Given the description of an element on the screen output the (x, y) to click on. 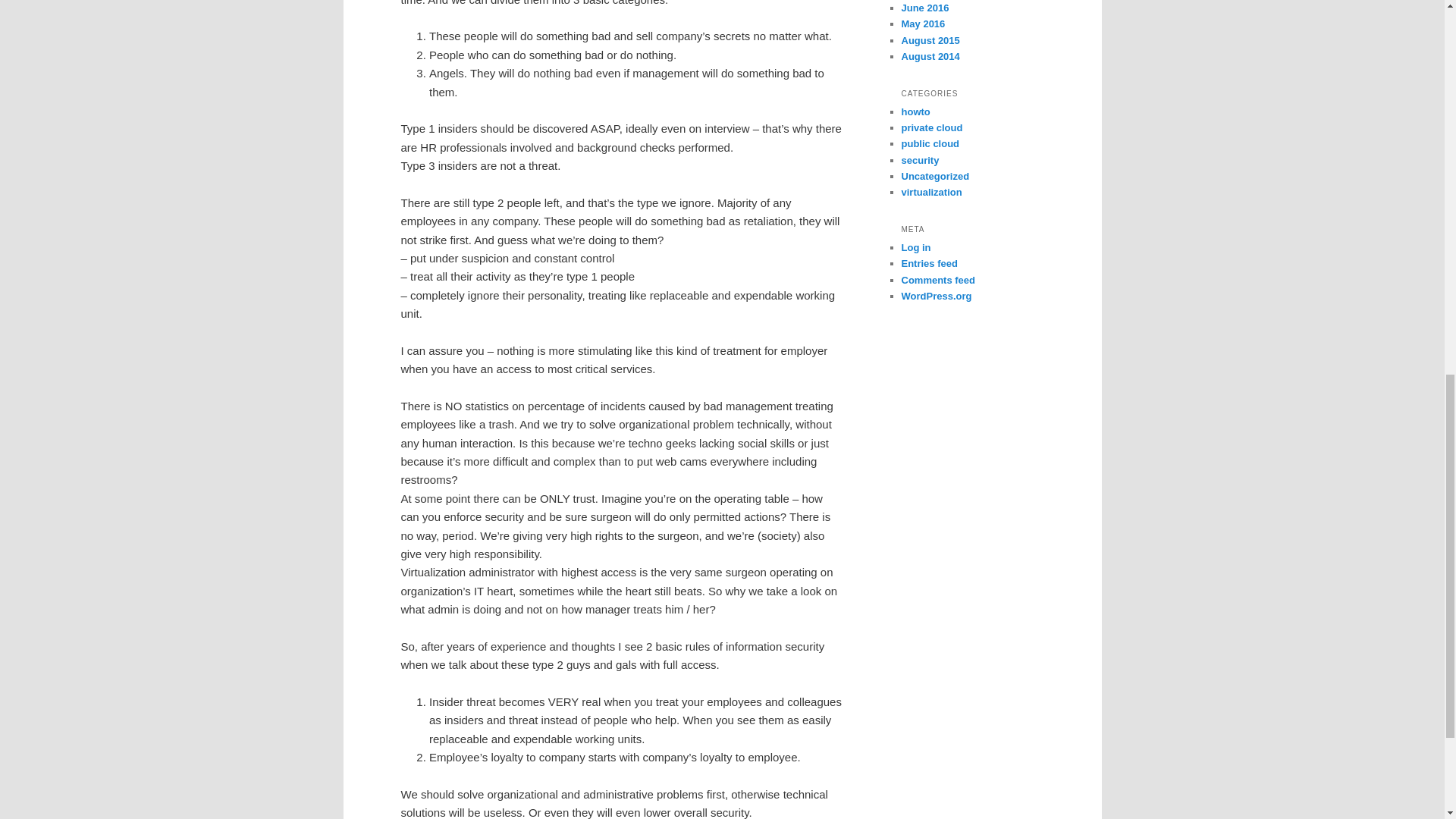
Comments feed (938, 279)
private cloud (931, 127)
howto (915, 111)
June 2016 (925, 7)
August 2015 (930, 40)
virtualization (930, 192)
security (920, 160)
Entries feed (928, 263)
Uncategorized (935, 175)
public cloud (930, 143)
